Given the description of an element on the screen output the (x, y) to click on. 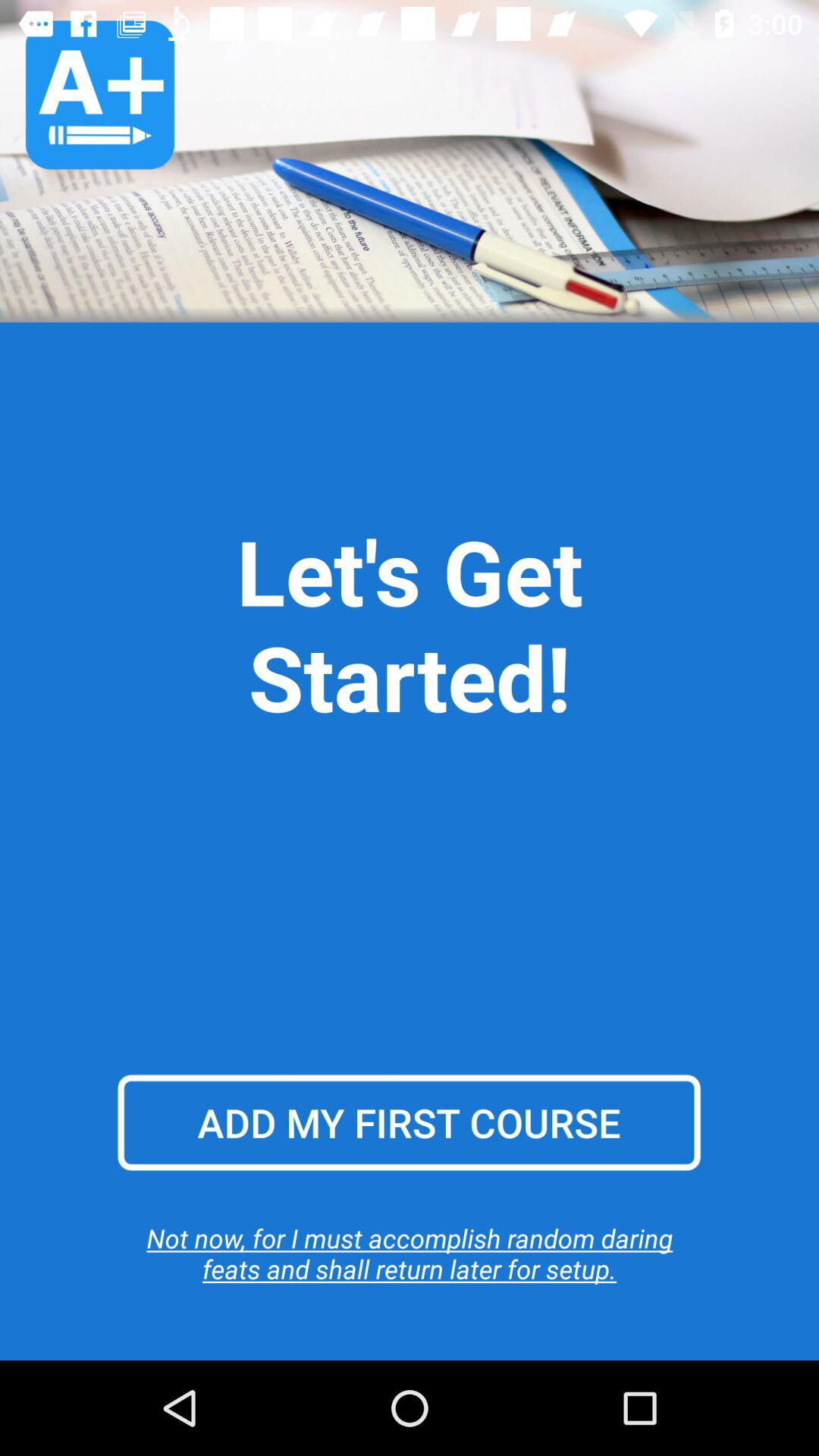
flip to not now for (409, 1253)
